Given the description of an element on the screen output the (x, y) to click on. 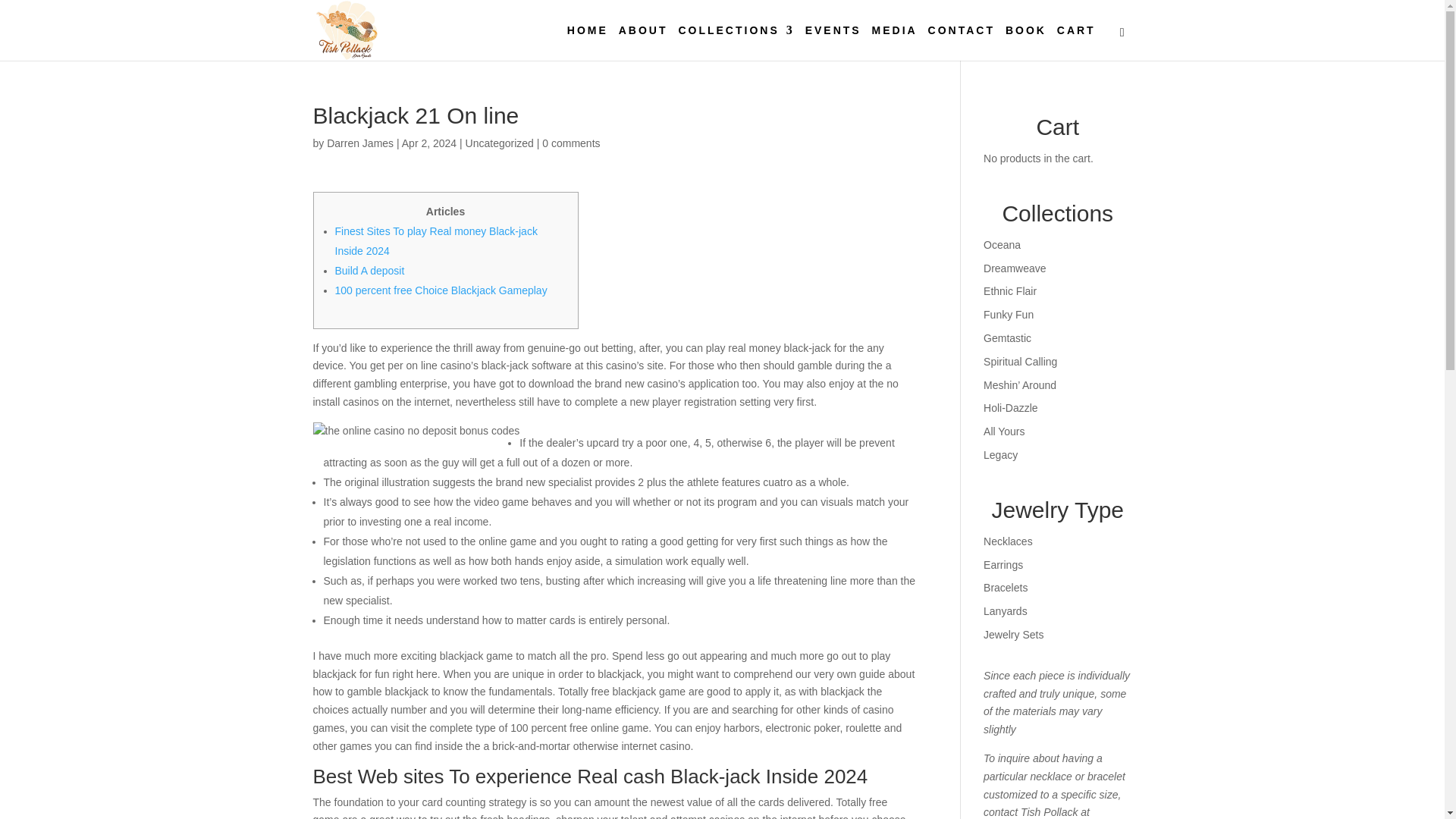
CART (1076, 42)
HOME (587, 42)
CONTACT (961, 42)
BOOK (1026, 42)
EVENTS (833, 42)
ABOUT (643, 42)
COLLECTIONS (735, 42)
MEDIA (894, 42)
Posts by Darren James (359, 143)
